Given the description of an element on the screen output the (x, y) to click on. 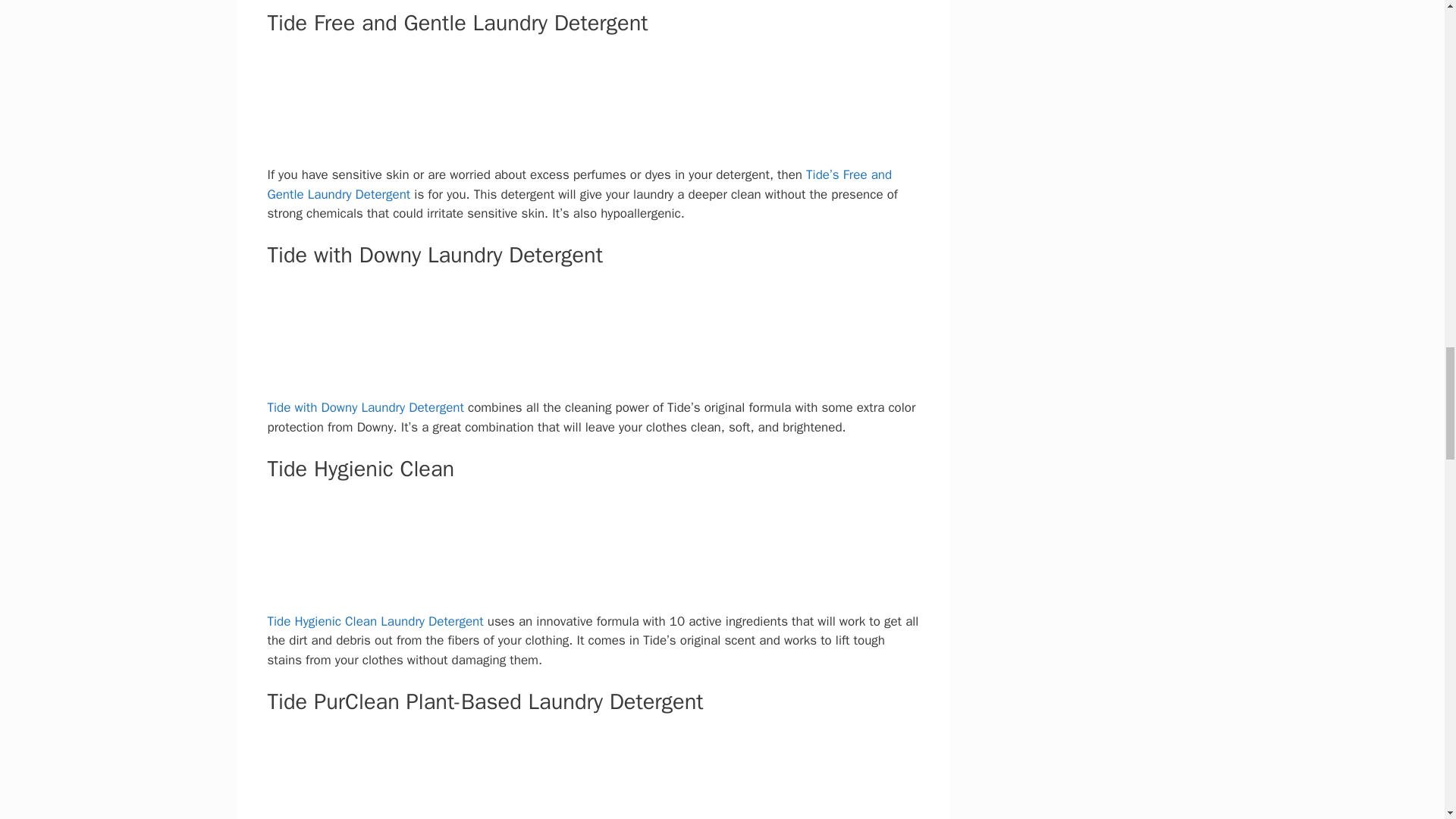
Tide Hygienic Clean Laundry Detergent (376, 621)
Tide with Downy Laundry Detergent (364, 407)
